Given the description of an element on the screen output the (x, y) to click on. 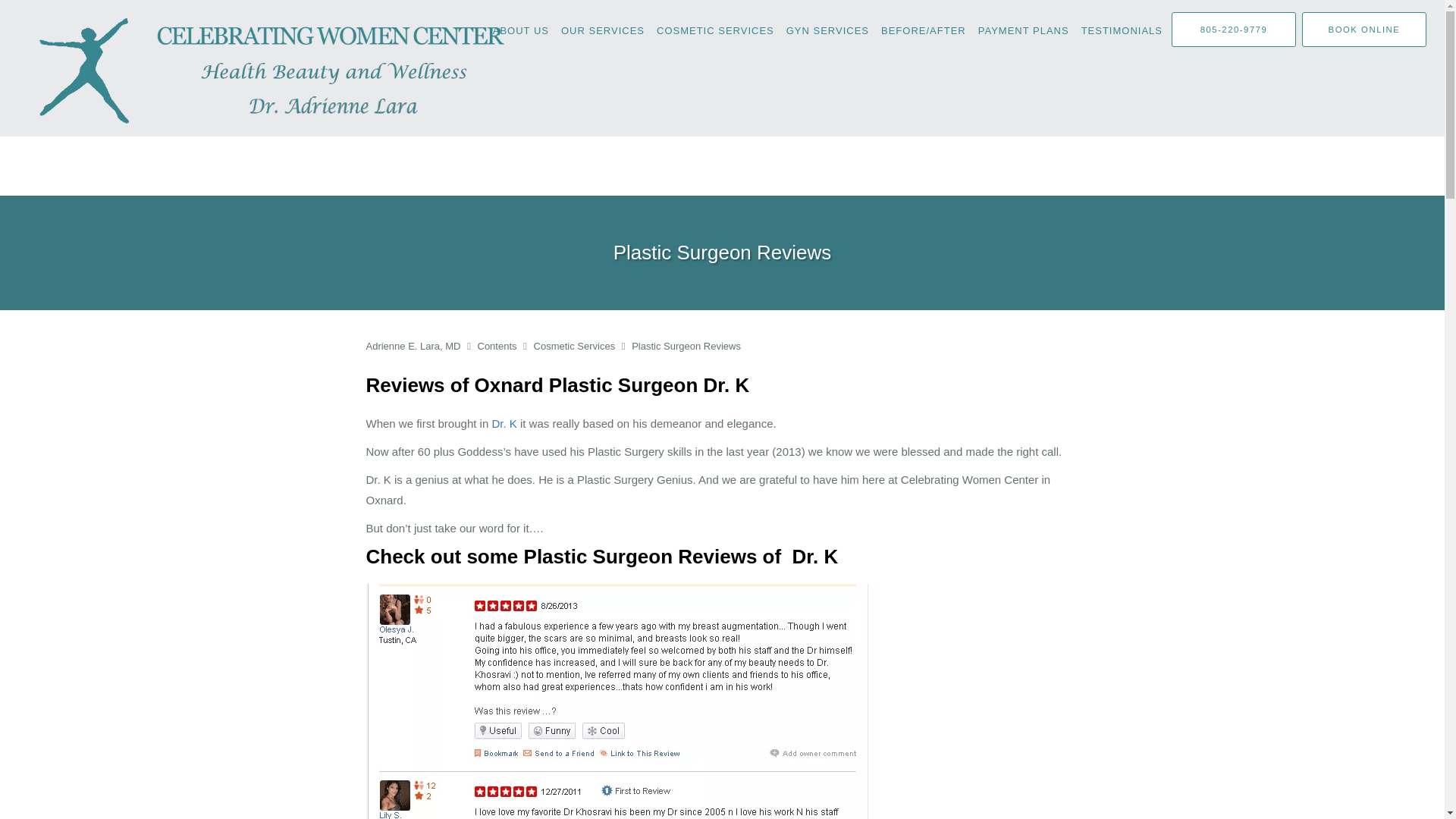
GYN SERVICES (827, 30)
TESTIMONIALS (1122, 30)
PAYMENT PLANS (1023, 30)
Skip to main content (74, 7)
Oxnard Plastic Surgeon (504, 422)
COSMETIC SERVICES (715, 30)
OUR SERVICES (602, 30)
ABOUT US (520, 30)
